Given the description of an element on the screen output the (x, y) to click on. 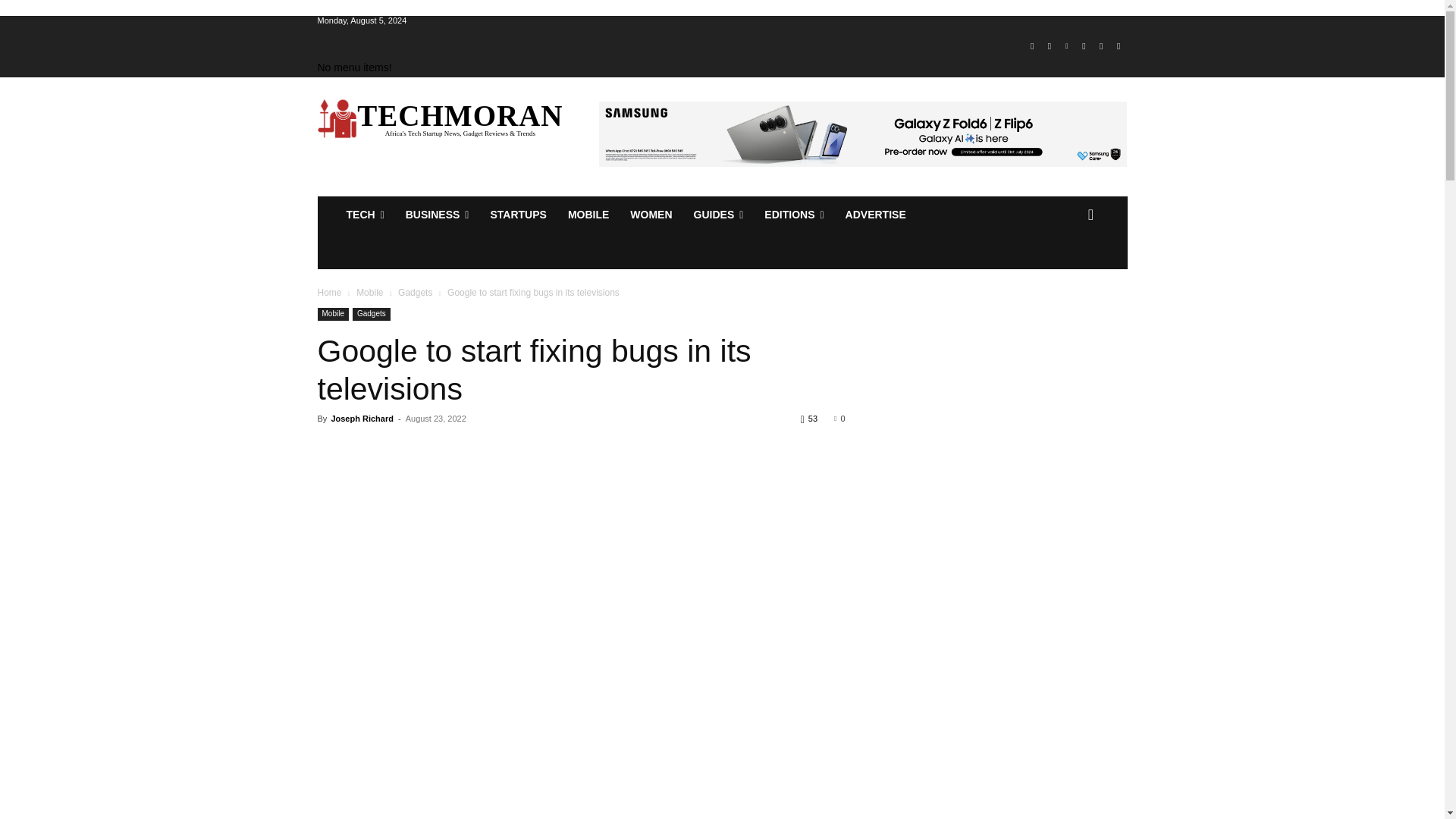
Telegram (1084, 46)
GUIDES (718, 214)
BUSINESS (437, 214)
MOBILE (588, 214)
Linkedin (1066, 46)
Instagram (1049, 46)
Mobile (588, 214)
View all posts in Mobile (369, 292)
Twitter (1101, 46)
STARTUPS (517, 214)
